Given the description of an element on the screen output the (x, y) to click on. 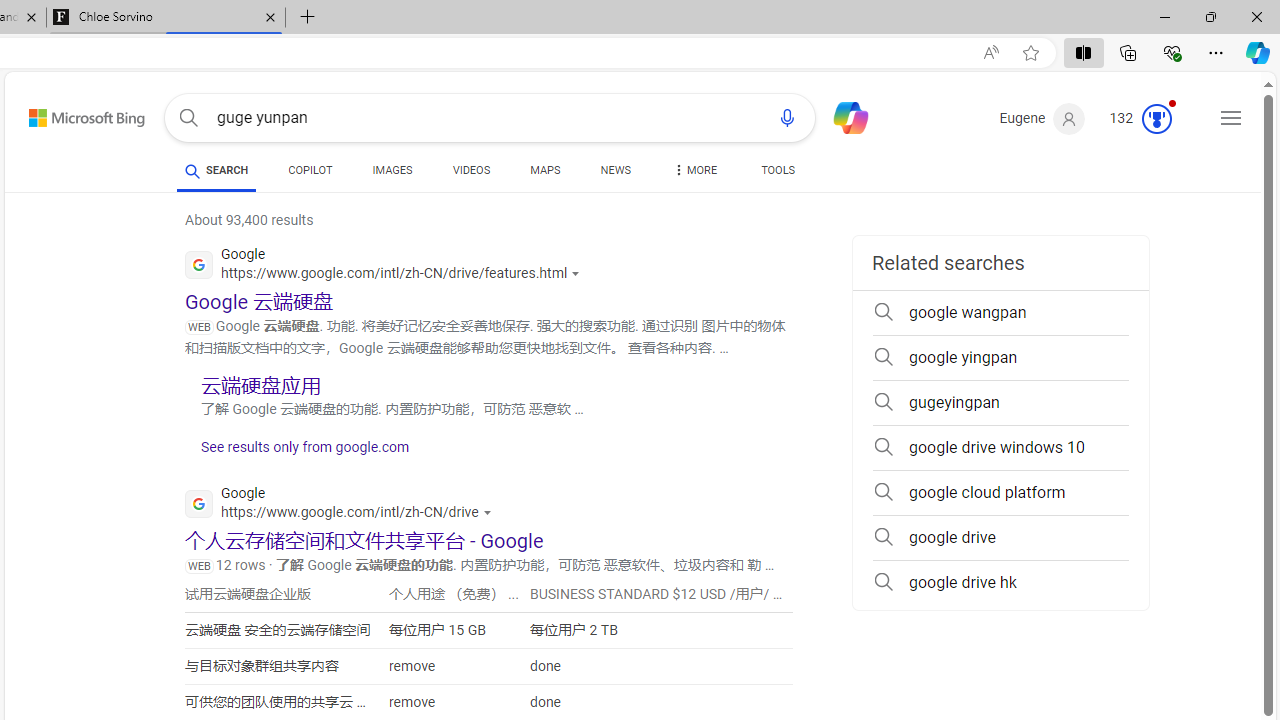
Minimize (1164, 16)
COPILOT (310, 170)
Add this page to favorites (Ctrl+D) (1030, 53)
MORE (693, 173)
SEARCH (216, 170)
Restore (1210, 16)
Close (1256, 16)
COPILOT (310, 173)
Actions for this site (489, 512)
gugeyingpan (1000, 402)
VIDEOS (471, 173)
google drive hk (1000, 582)
Search (188, 117)
